Given the description of an element on the screen output the (x, y) to click on. 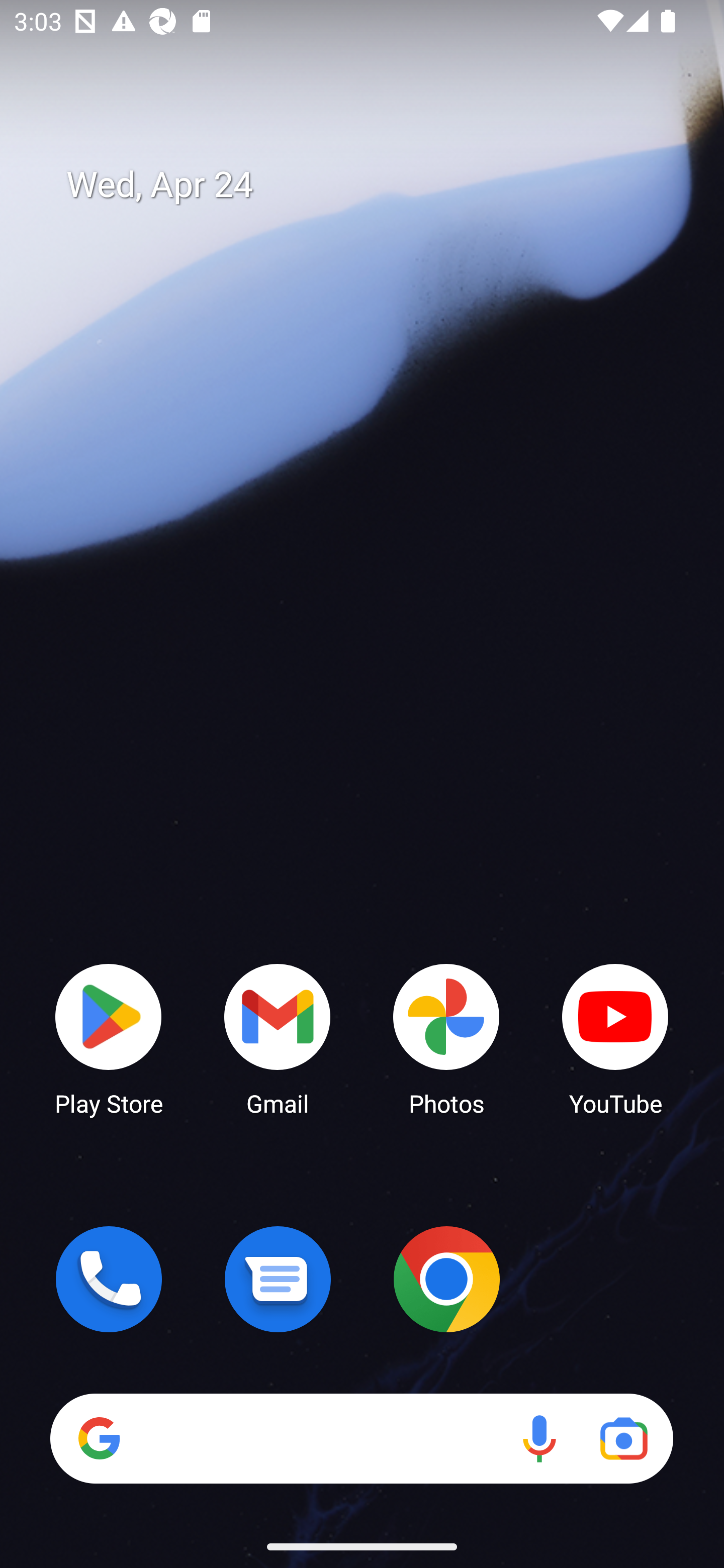
Wed, Apr 24 (375, 184)
Play Store (108, 1038)
Gmail (277, 1038)
Photos (445, 1038)
YouTube (615, 1038)
Phone (108, 1279)
Messages (277, 1279)
Chrome (446, 1279)
Search Voice search Google Lens (361, 1438)
Voice search (539, 1438)
Google Lens (623, 1438)
